Given the description of an element on the screen output the (x, y) to click on. 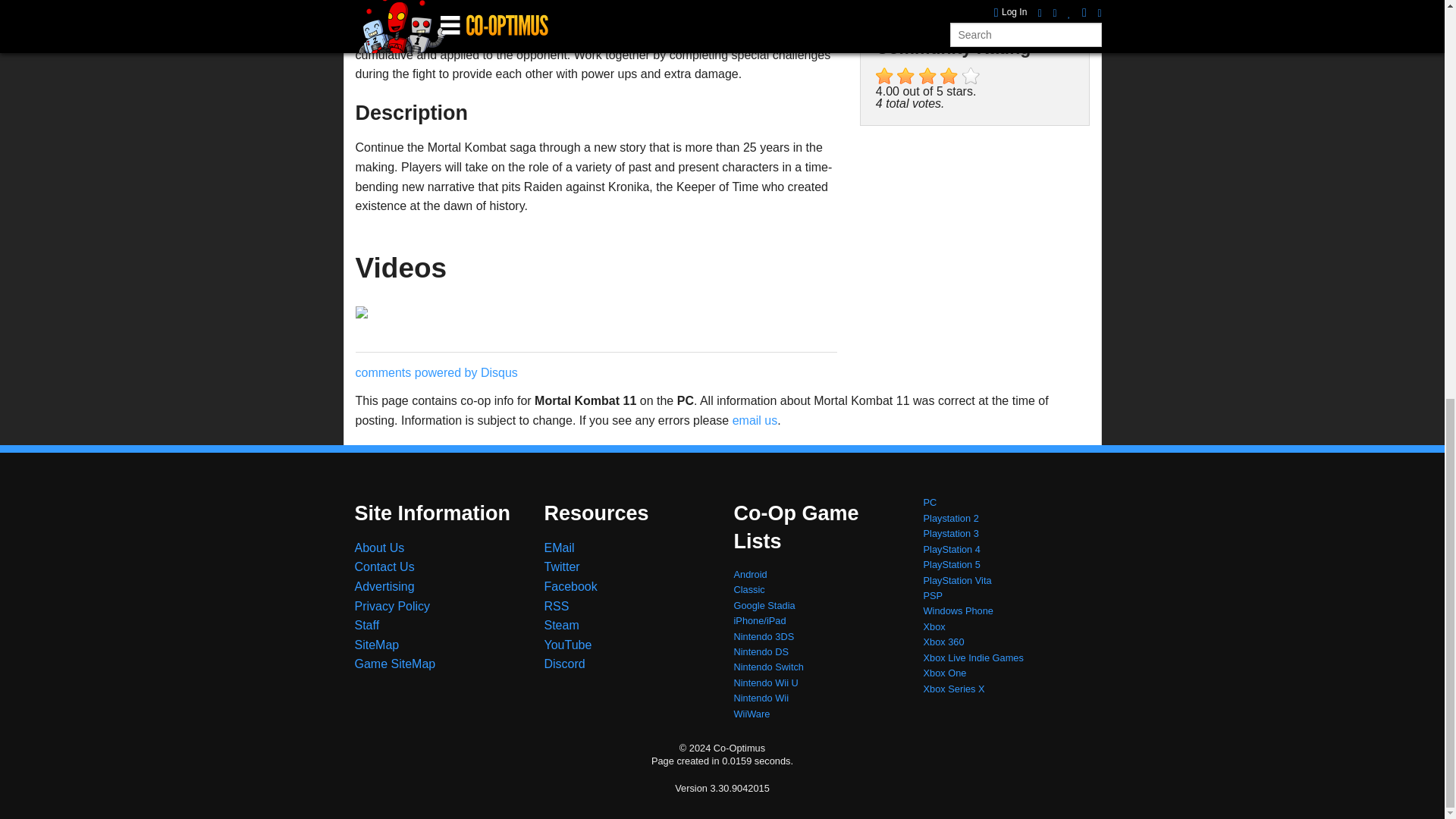
gorgeous (970, 76)
Join our Steam Group! (561, 625)
good (949, 76)
bad (884, 76)
poor (905, 76)
comments powered by Disqus (435, 372)
Our current staff and bios. (367, 625)
regular (927, 76)
Advertising rates and traffic numbers. (384, 585)
